Given the description of an element on the screen output the (x, y) to click on. 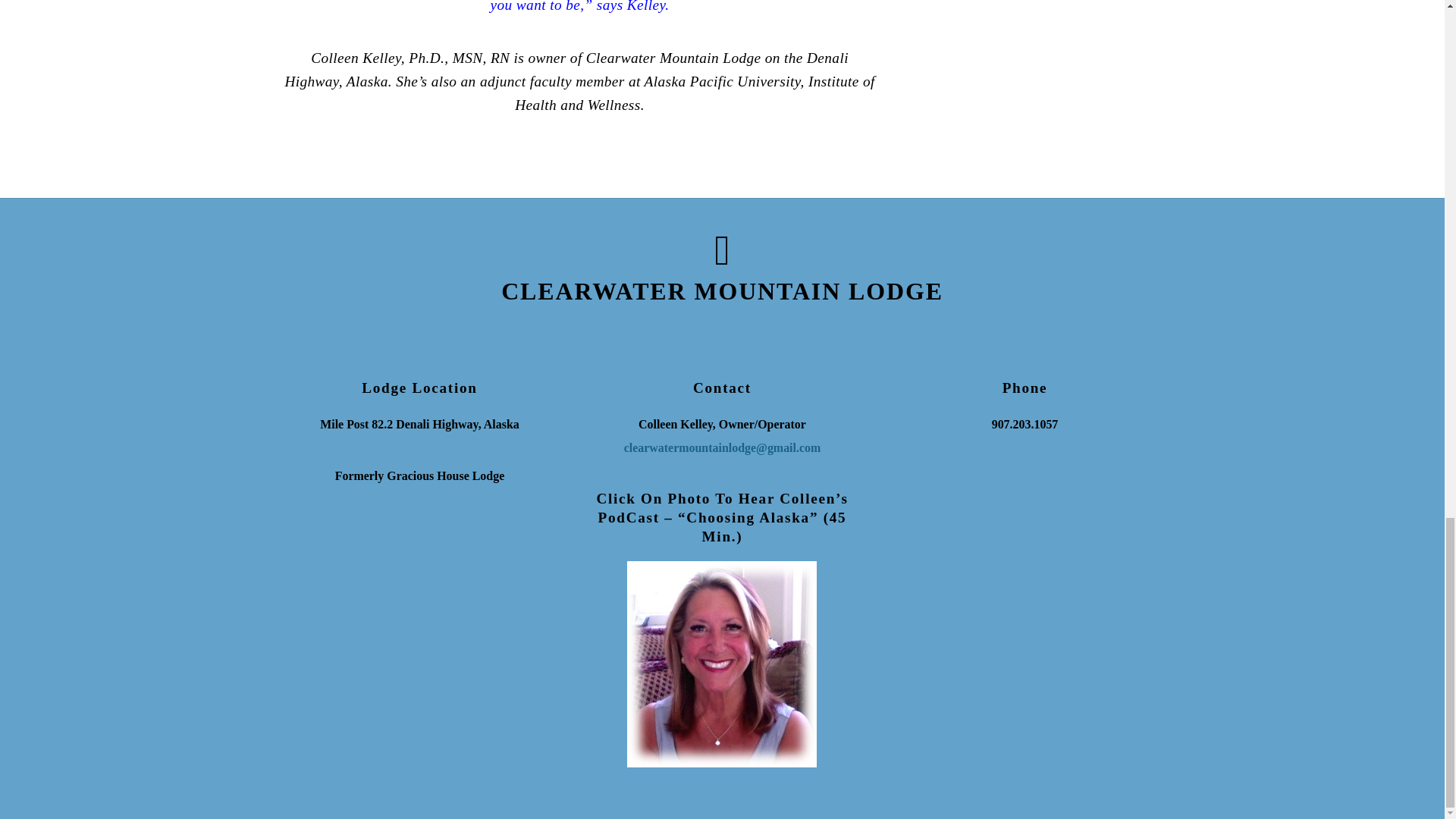
CLEARWATER MOUNTAIN LODGE (721, 291)
Clearwater Mountain Lodge (721, 291)
